Given the description of an element on the screen output the (x, y) to click on. 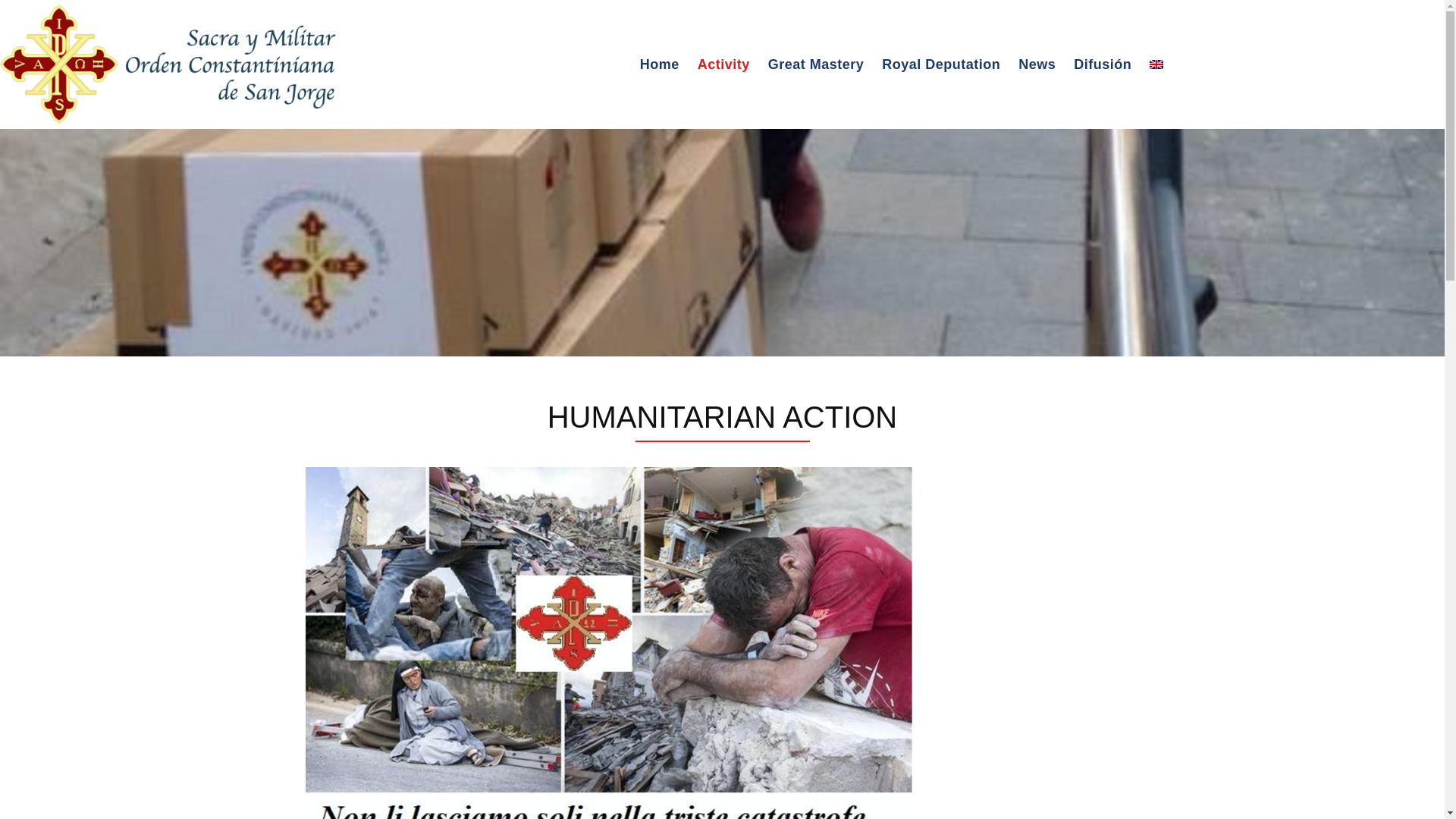
Great Mastery (815, 64)
Royal Deputation (940, 64)
News (1036, 64)
Activity (723, 64)
Home (659, 64)
